Given the description of an element on the screen output the (x, y) to click on. 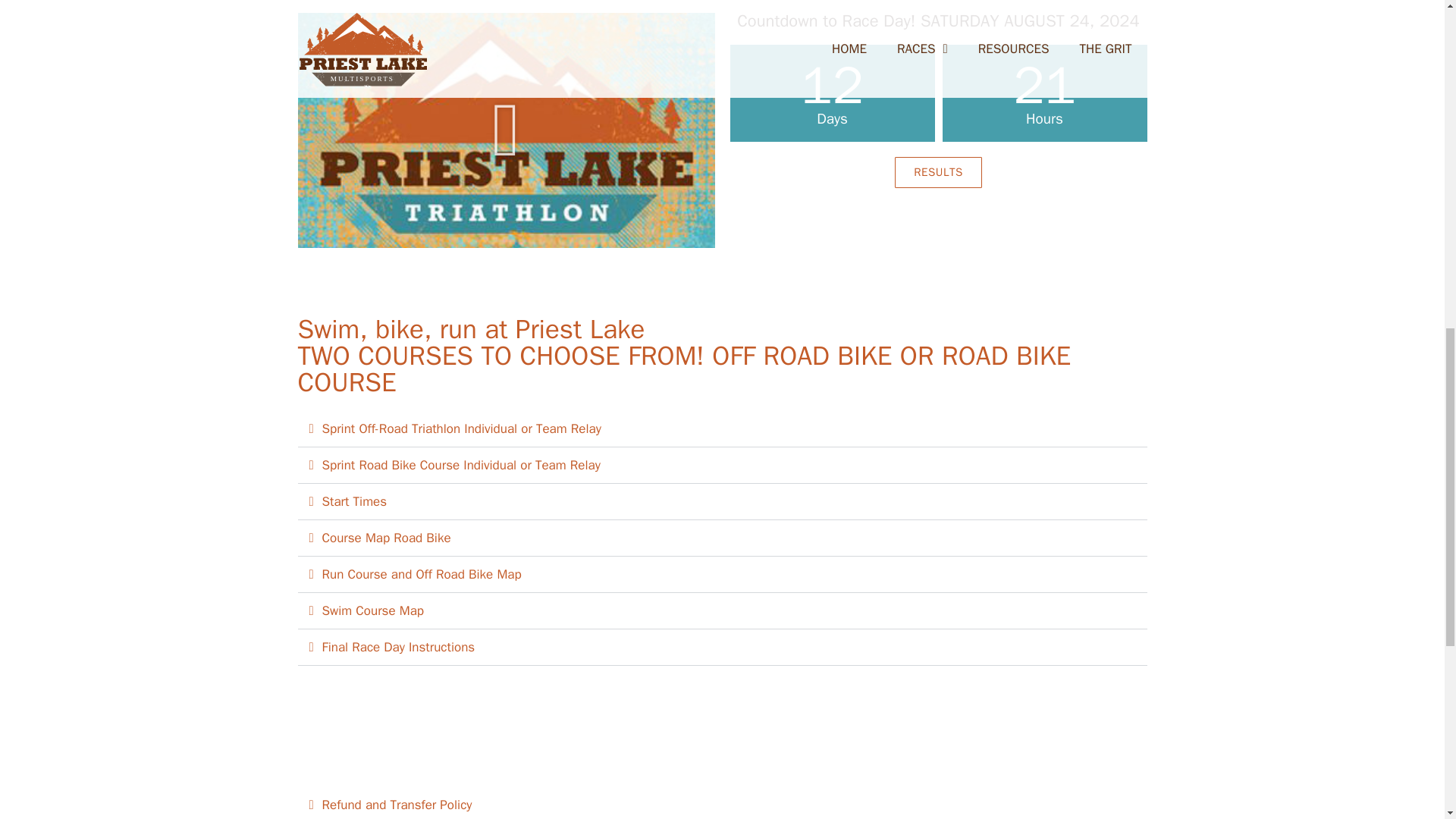
Refund and Transfer Policy (396, 804)
Sprint Off-Road Triathlon Individual or Team Relay (460, 428)
Run Course and Off Road Bike Map (421, 574)
Final Race Day Instructions (397, 647)
Sprint Road Bike Course Individual or Team Relay (460, 465)
RESULTS (938, 172)
Swim Course Map (372, 610)
Course Map Road Bike (385, 537)
Start Times (354, 501)
